Given the description of an element on the screen output the (x, y) to click on. 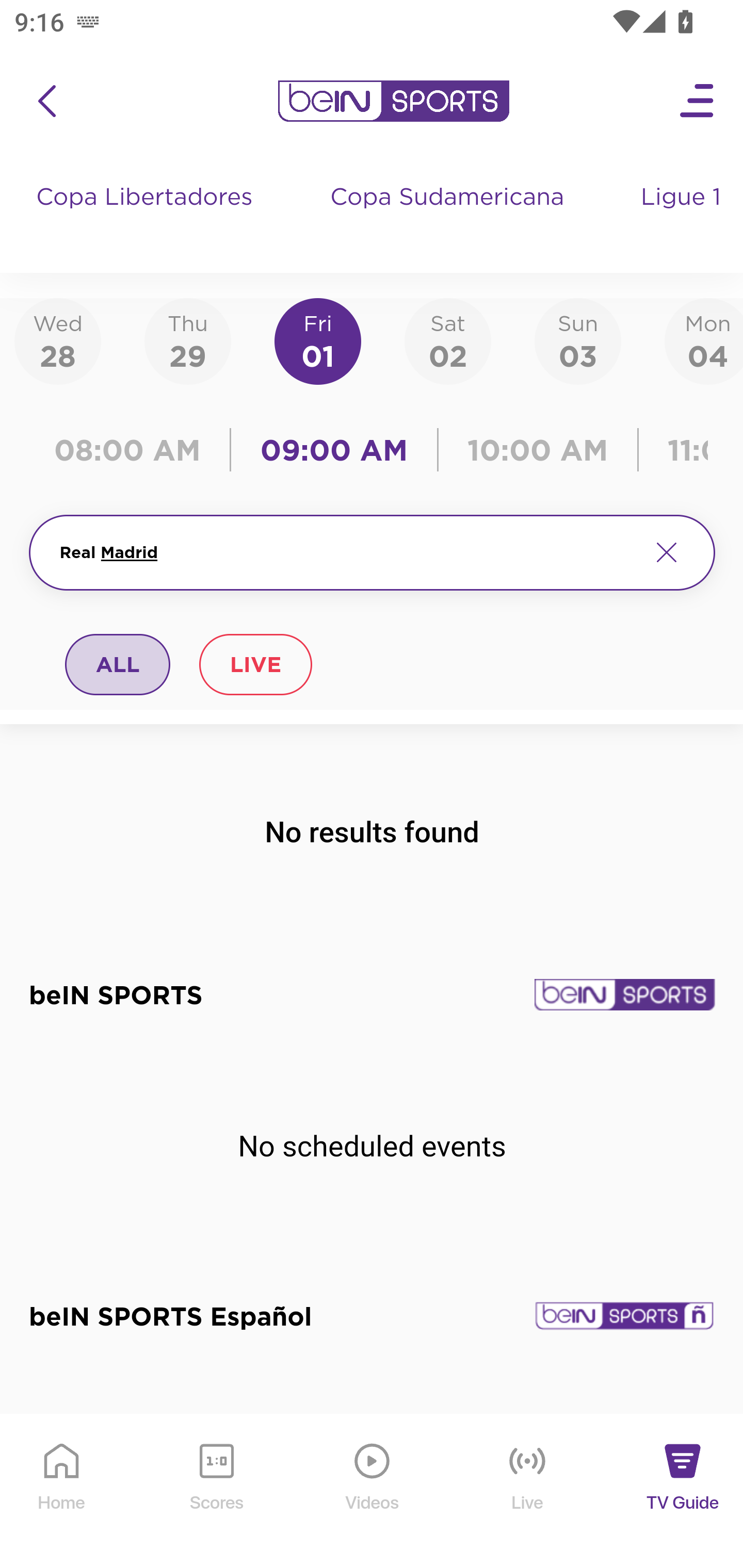
en-us?platform=mobile_android bein logo (392, 101)
icon back (46, 101)
Open Menu Icon (697, 101)
Copa Libertadores (146, 216)
Copa Sudamericana (448, 216)
Ligue 1 (682, 216)
Wed28 (58, 340)
Thu29 (187, 340)
Fri01 (318, 340)
Sat02 (447, 340)
Sun03 (578, 340)
Mon04 (703, 340)
08:00 AM (134, 449)
09:00 AM (334, 449)
10:00 AM (537, 449)
Real Madrid (346, 552)
ALL (118, 663)
LIVE (255, 663)
Home Home Icon Home (61, 1491)
Scores Scores Icon Scores (216, 1491)
Videos Videos Icon Videos (372, 1491)
TV Guide TV Guide Icon TV Guide (682, 1491)
